Given the description of an element on the screen output the (x, y) to click on. 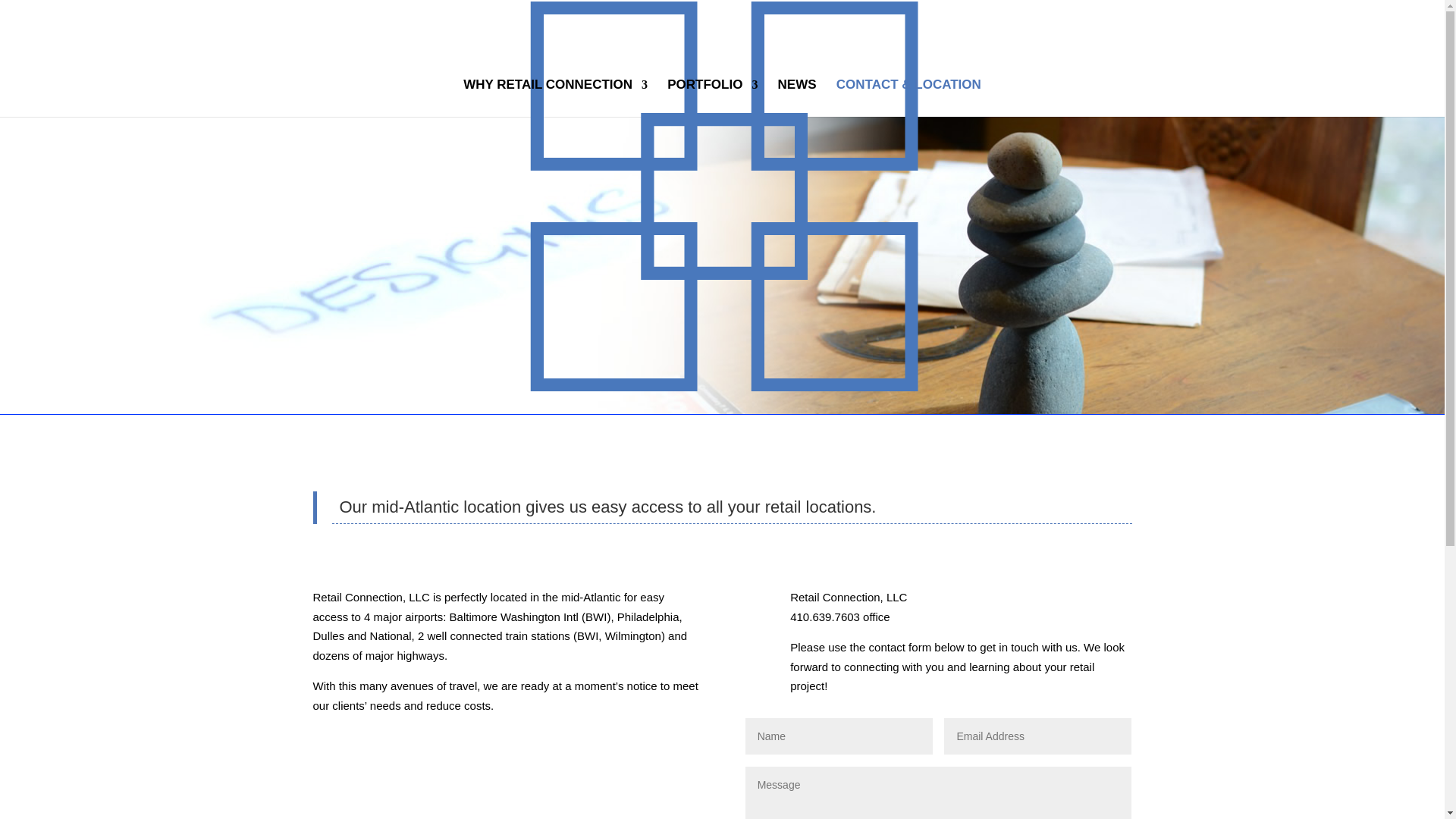
NEWS (796, 97)
WHY RETAIL CONNECTION (555, 97)
PORTFOLIO (711, 97)
